Given the description of an element on the screen output the (x, y) to click on. 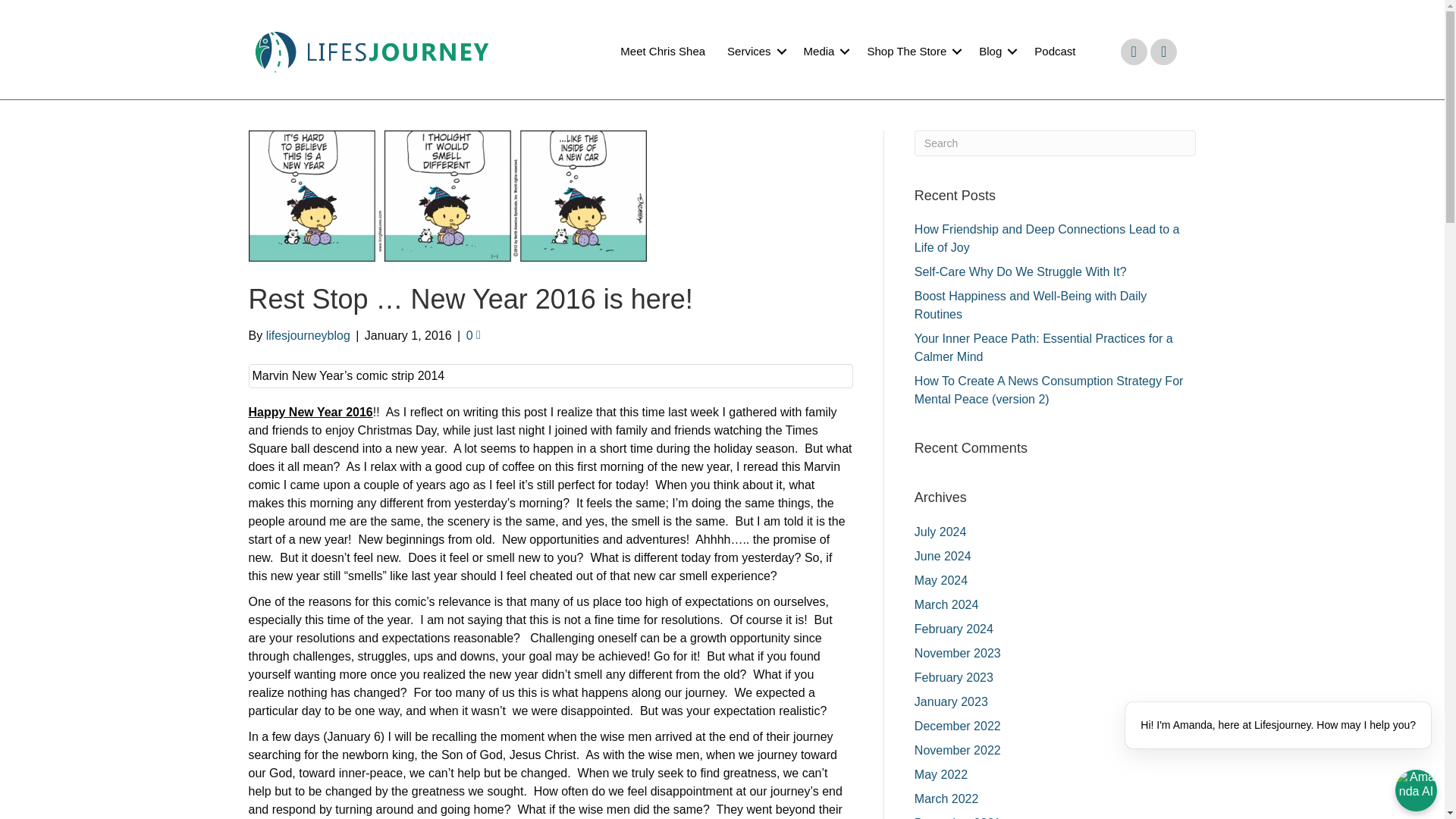
Services (754, 51)
lifesjourneyblog (308, 335)
Chris-Shea-Lifes-Journey-Logo (371, 51)
Shop The Store (912, 51)
Type and press Enter to search. (1055, 143)
Media (824, 51)
Meet Chris Shea (663, 51)
0 (472, 335)
Podcast (1054, 51)
Blog (995, 51)
